Given the description of an element on the screen output the (x, y) to click on. 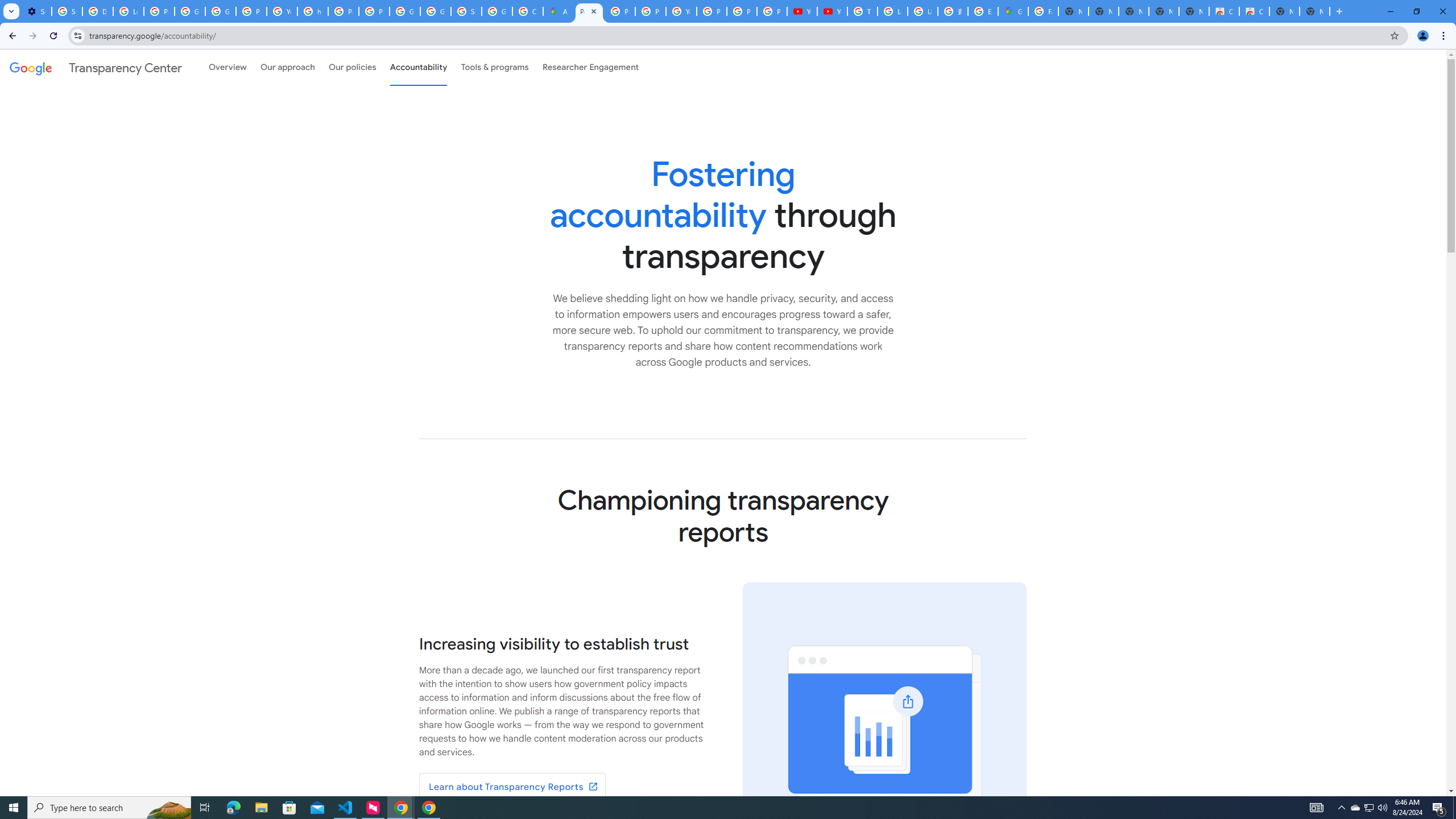
YouTube (832, 11)
Privacy Help Center - Policies Help (343, 11)
Our policies (351, 67)
Sign in - Google Accounts (465, 11)
Google Maps (1012, 11)
Create your Google Account (527, 11)
New Tab (1314, 11)
YouTube (801, 11)
Go to Transparency Report About web page (512, 786)
